Given the description of an element on the screen output the (x, y) to click on. 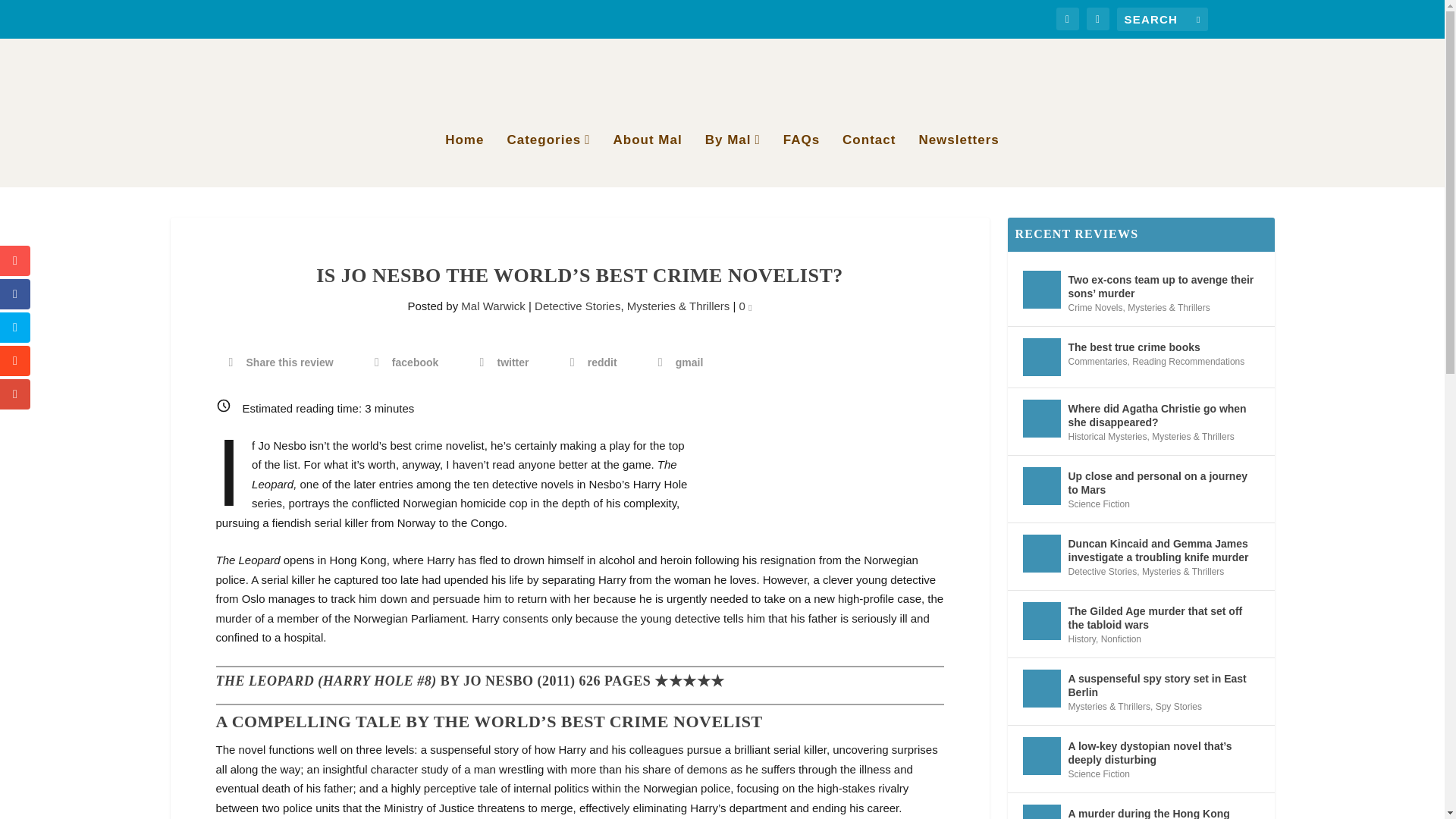
Categories (547, 160)
Detective Stories (577, 305)
Where did Agatha Christie go when she disappeared? (1040, 418)
The best true crime books (1040, 356)
The Gilded Age murder that set off the tabloid wars (1040, 620)
Posts by Mal Warwick (492, 305)
Newsletters (958, 160)
About Mal (647, 160)
Contact (869, 160)
